Given the description of an element on the screen output the (x, y) to click on. 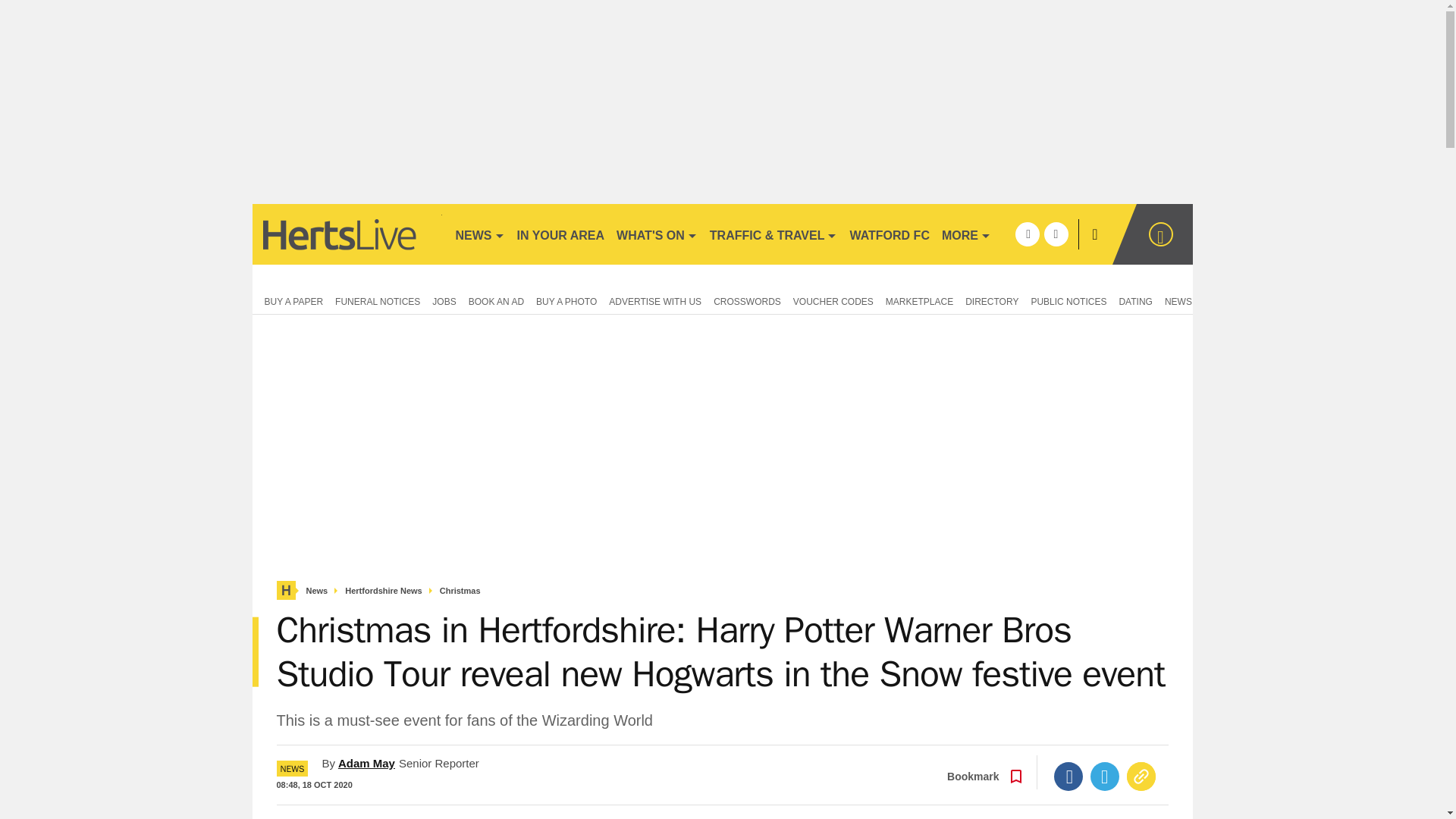
MORE (966, 233)
WHAT'S ON (656, 233)
NEWS (479, 233)
facebook (1026, 233)
Twitter (1104, 776)
hertfordshiremercury (346, 233)
twitter (1055, 233)
WATFORD FC (888, 233)
IN YOUR AREA (561, 233)
Facebook (1068, 776)
